Given the description of an element on the screen output the (x, y) to click on. 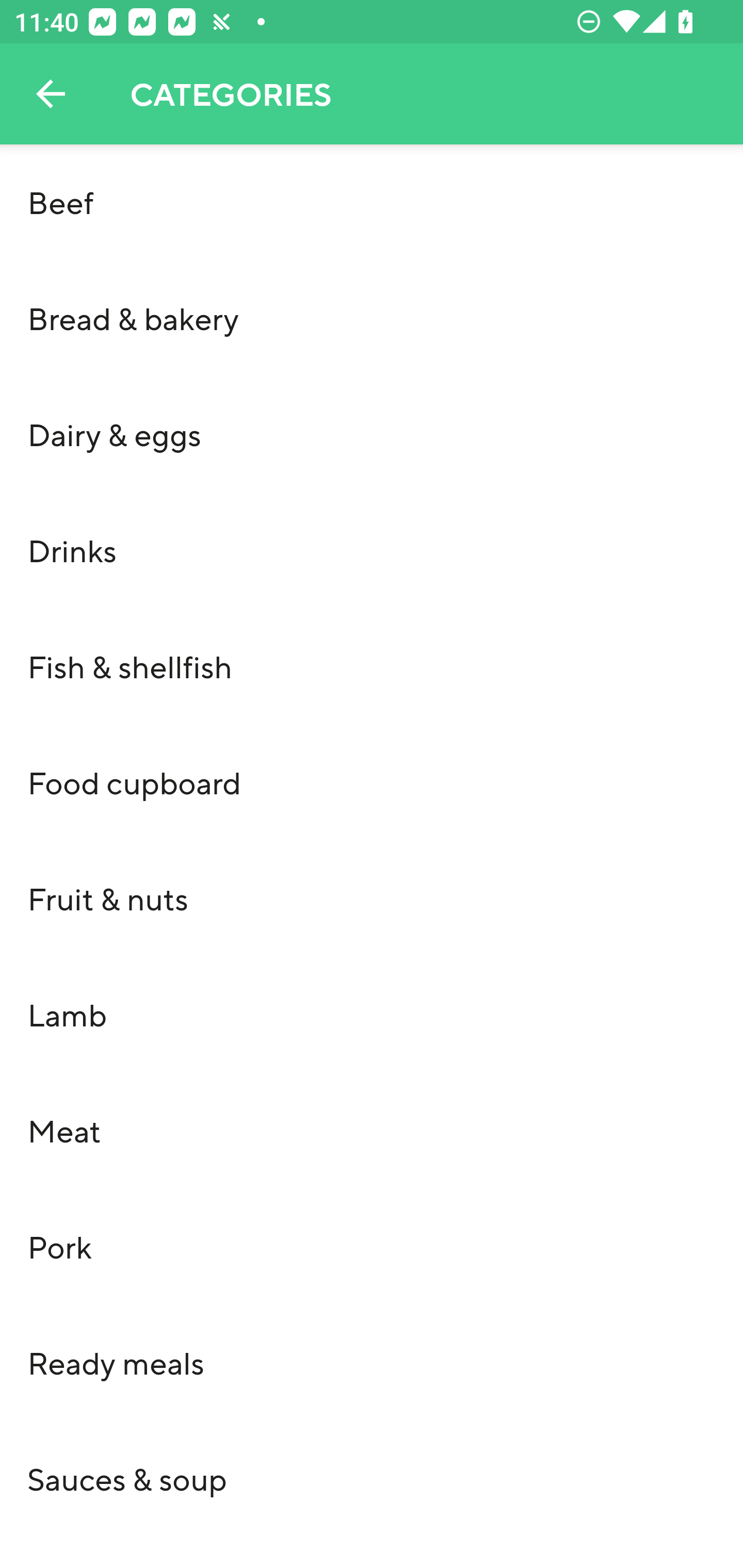
Navigate up (50, 93)
Beef (371, 202)
Bread & bakery (371, 318)
Dairy & eggs (371, 434)
Drinks (371, 550)
Fish & shellfish (371, 666)
Food cupboard (371, 782)
Fruit & nuts (371, 898)
Lamb (371, 1014)
Meat (371, 1130)
Pork (371, 1246)
Ready meals (371, 1362)
Sauces & soup (371, 1478)
